Given the description of an element on the screen output the (x, y) to click on. 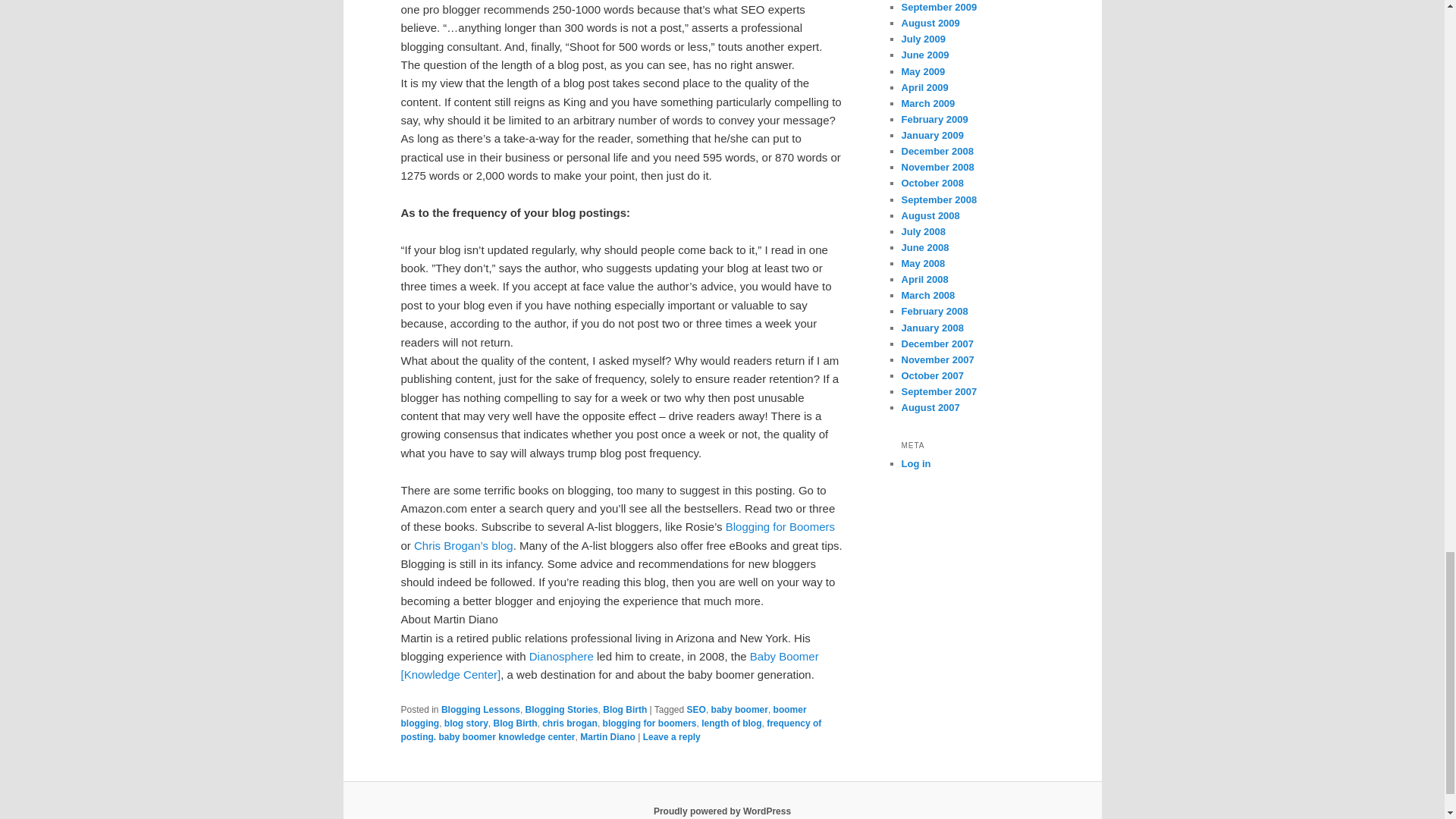
blogging for boomers (649, 723)
chris brogan (568, 723)
Blogging Stories (561, 709)
Blog Birth (624, 709)
Martin Diano (606, 737)
Semantic Personal Publishing Platform (721, 810)
length of blog (731, 723)
frequency of posting. baby boomer knowledge center (610, 730)
Blogging Lessons (480, 709)
blog story (465, 723)
boomer blogging (603, 716)
Blog Birth (515, 723)
baby boomer (739, 709)
Leave a reply (671, 737)
Dianosphere (562, 656)
